Given the description of an element on the screen output the (x, y) to click on. 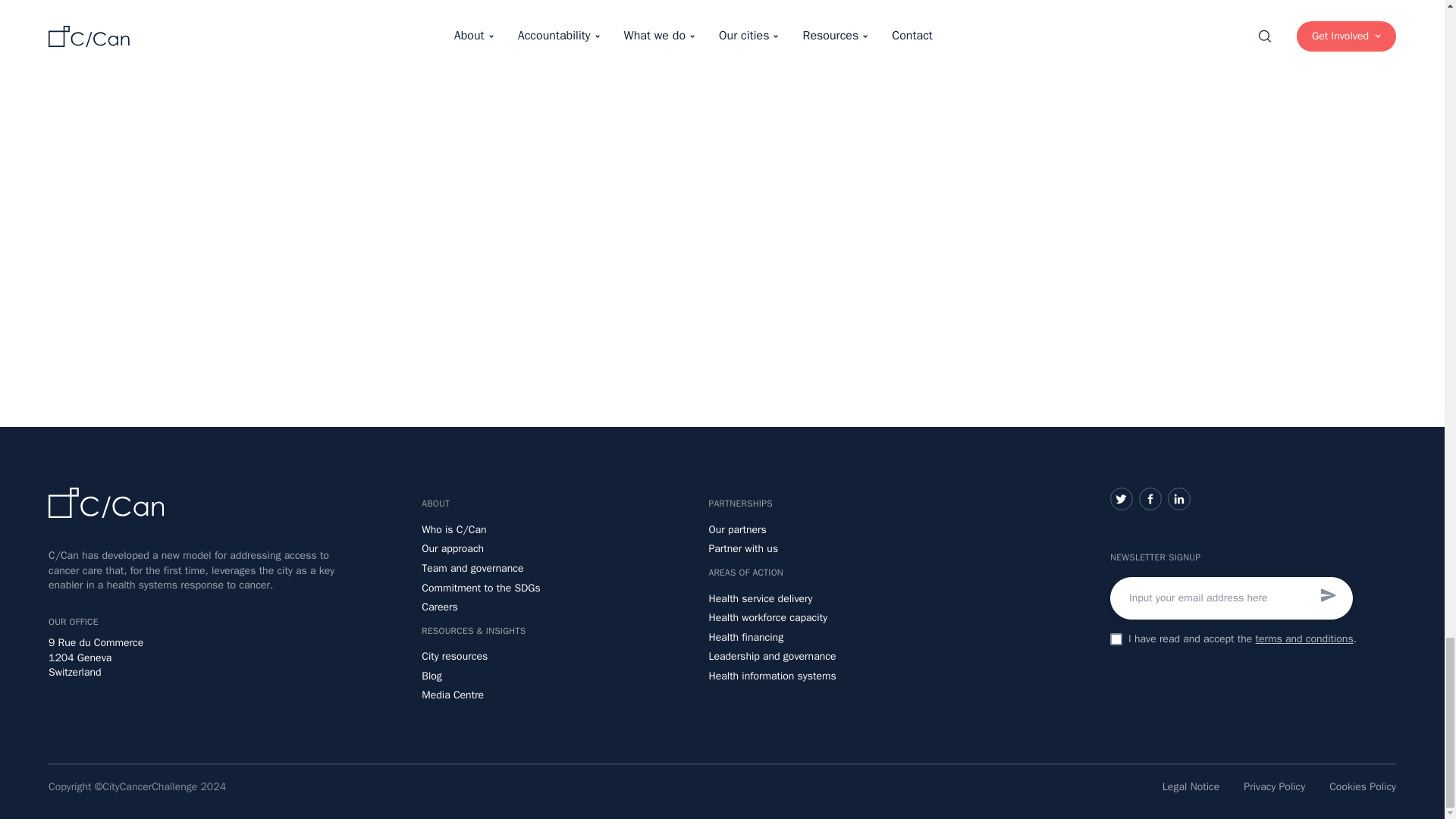
on (1115, 639)
